Given the description of an element on the screen output the (x, y) to click on. 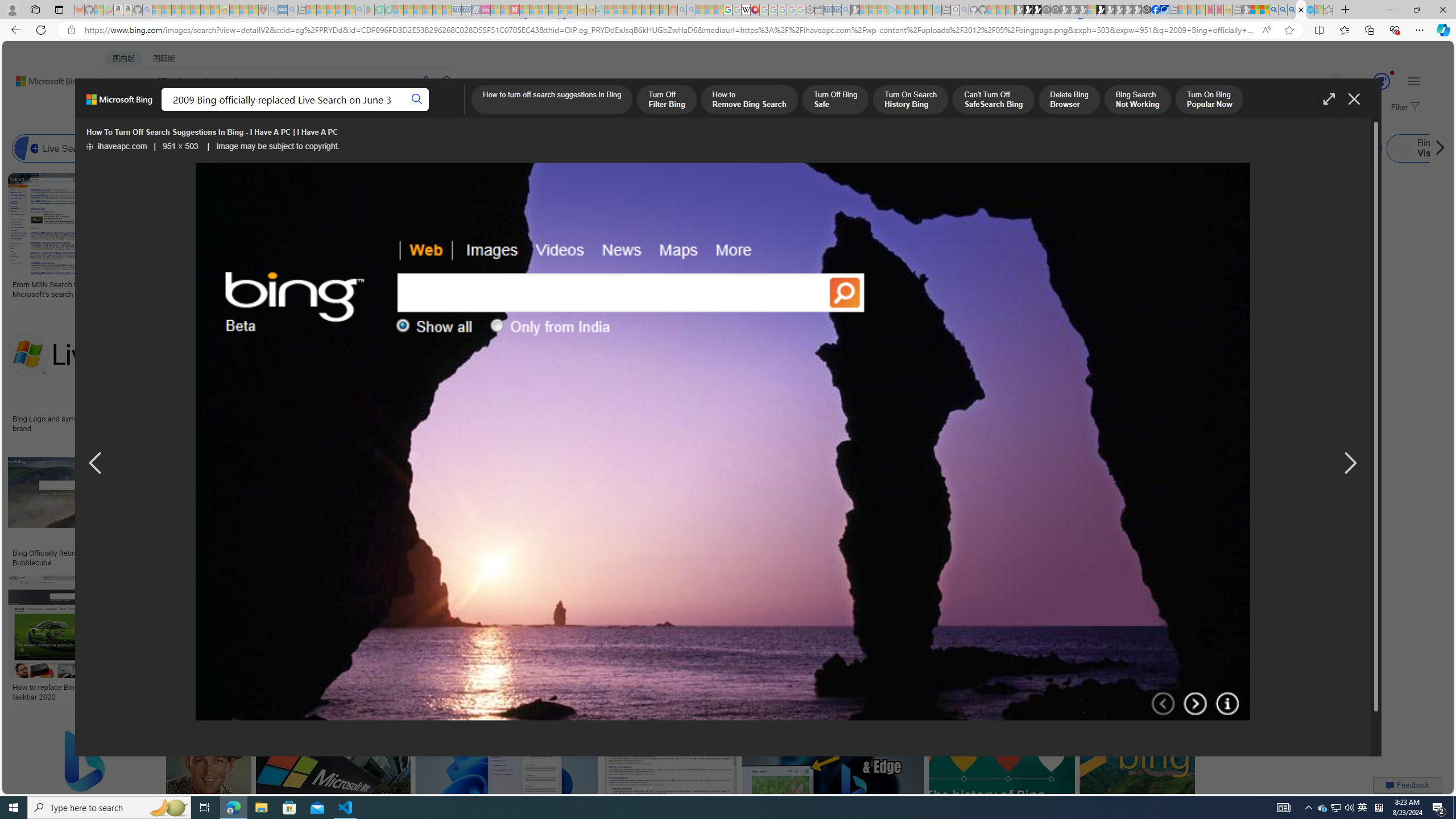
Expert Portfolios - Sleeping (636, 9)
Kinda Frugal - MSN - Sleeping (645, 9)
Scroll right (1436, 148)
MSN - Sleeping (1246, 9)
Bing - SEOLend (219, 552)
Bing Ai Search Engine Powered (472, 148)
